Given the description of an element on the screen output the (x, y) to click on. 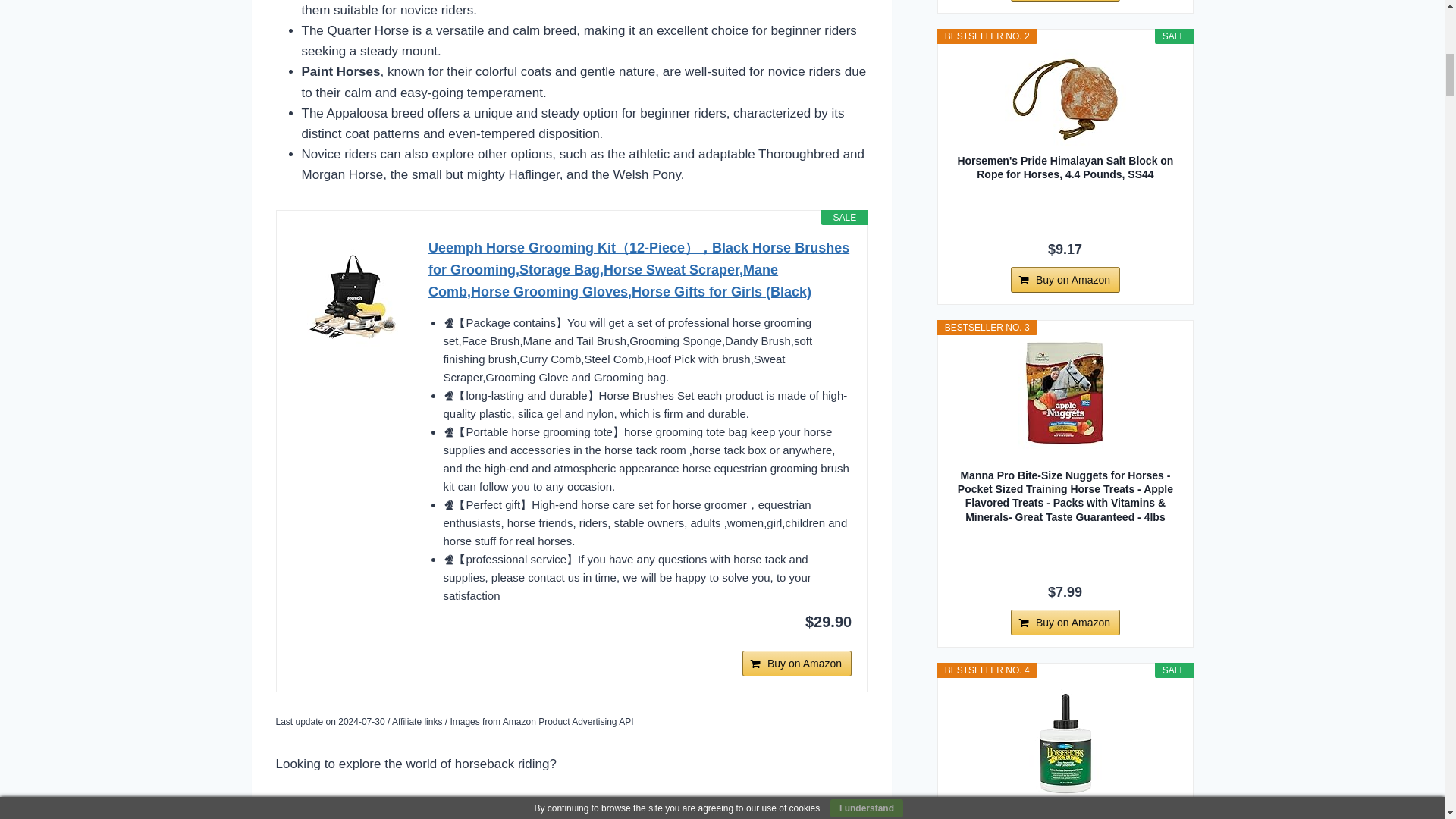
Buy on Amazon (796, 663)
Amazon Prime (639, 650)
Buy on Amazon (796, 663)
